Given the description of an element on the screen output the (x, y) to click on. 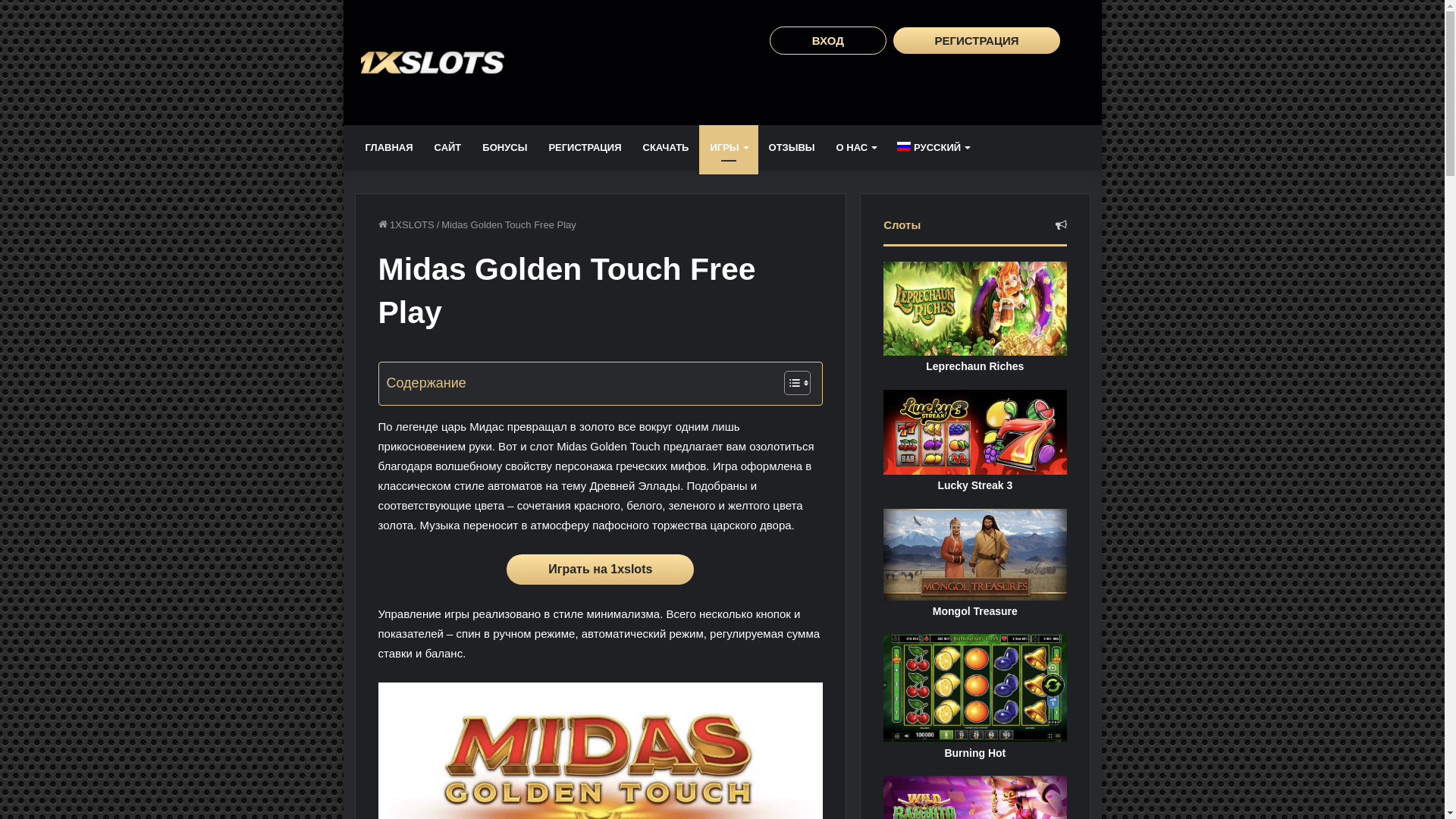
Lucky Streak 3 Element type: text (974, 441)
1XSLOTS Element type: text (405, 224)
Burning Hot Element type: text (974, 696)
Mongol Treasure Element type: text (974, 563)
Leprechaun Riches Element type: text (974, 317)
